Given the description of an element on the screen output the (x, y) to click on. 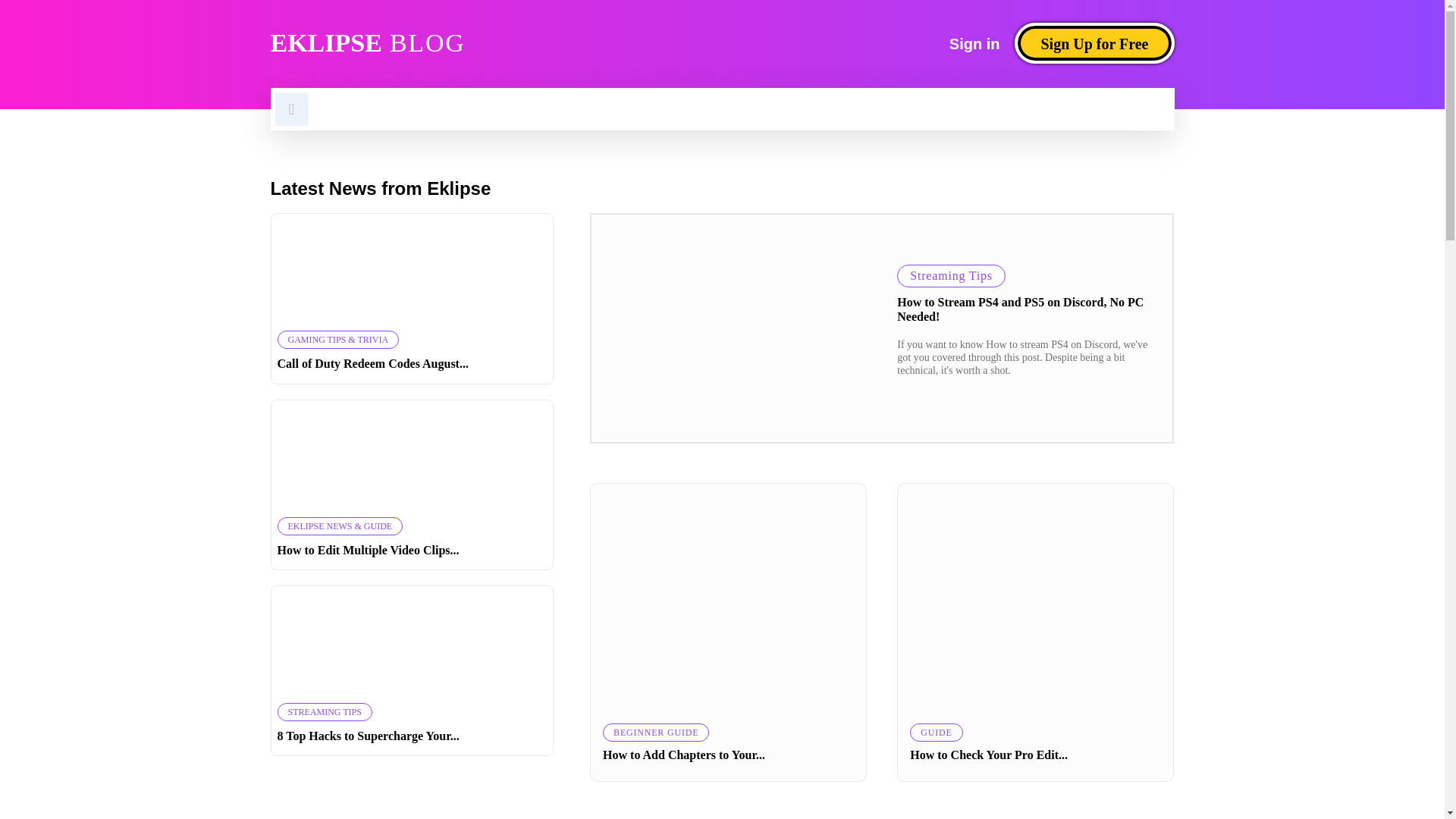
Call of Duty Redeem Codes August 2024: Free Rewards! (412, 269)
Call of Duty Redeem Codes August 2024: Free Rewards! (373, 363)
How to Stream PS4 and PS5 on Discord, No PC Needed! (736, 328)
8 Top Hacks to Supercharge Your Skills in Gaming Online (412, 641)
Sign in (974, 43)
Sign in (974, 43)
How to Check Your Pro Edit Order Status on Eklipse (988, 754)
Sign Up for Free (1093, 42)
How to Check Your Pro Edit Order Status on Eklipse (1035, 597)
How to Stream PS4 and PS5 on Discord, No PC Needed! (1019, 308)
